Given the description of an element on the screen output the (x, y) to click on. 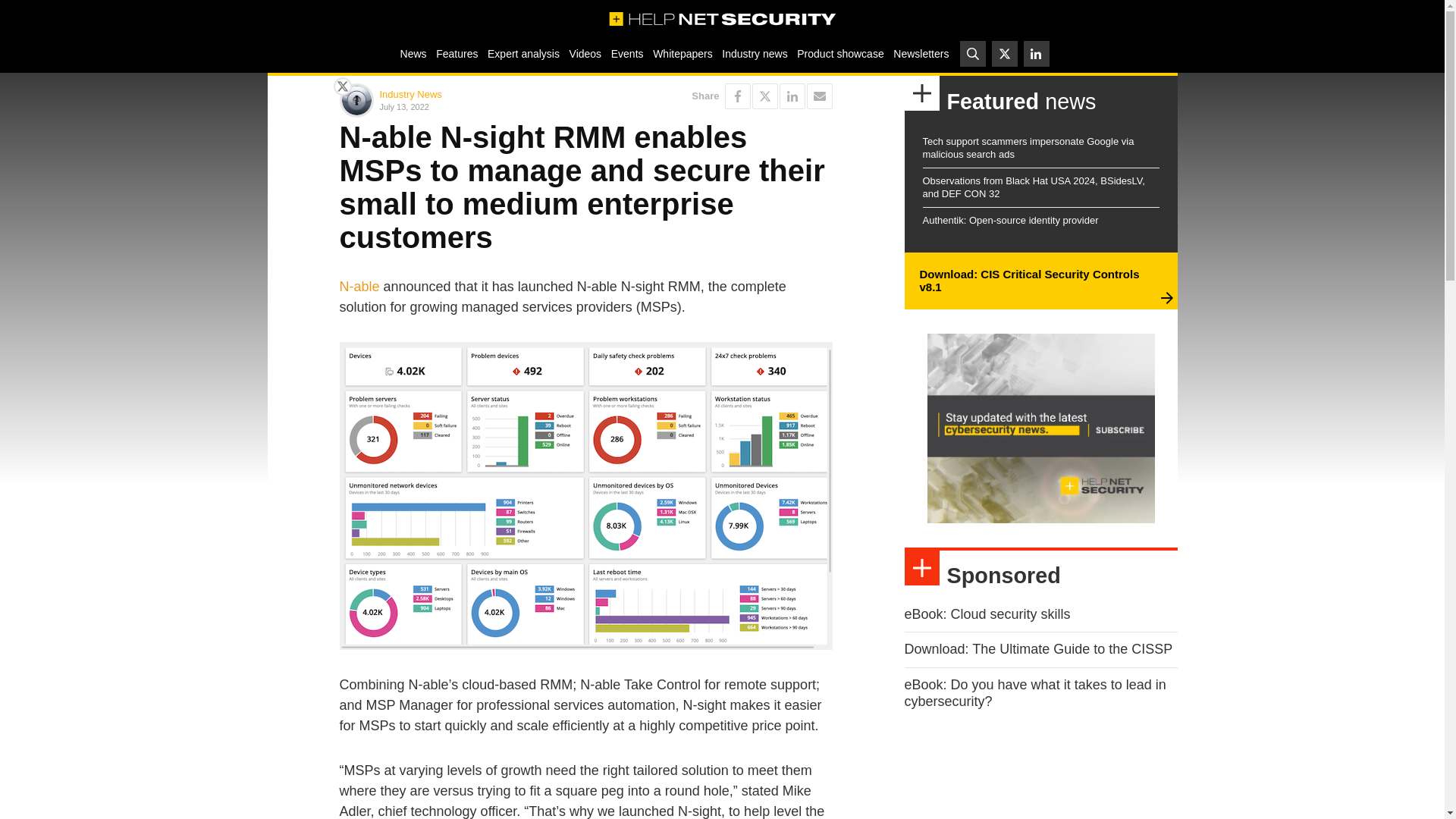
Download: The Ultimate Guide to the CISSP (1038, 648)
Events (626, 53)
eBook: Do you have what it takes to lead in cybersecurity? (1035, 693)
eBook: Cloud security skills (987, 613)
Authentik: Open-source identity provider (1009, 220)
